Given the description of an element on the screen output the (x, y) to click on. 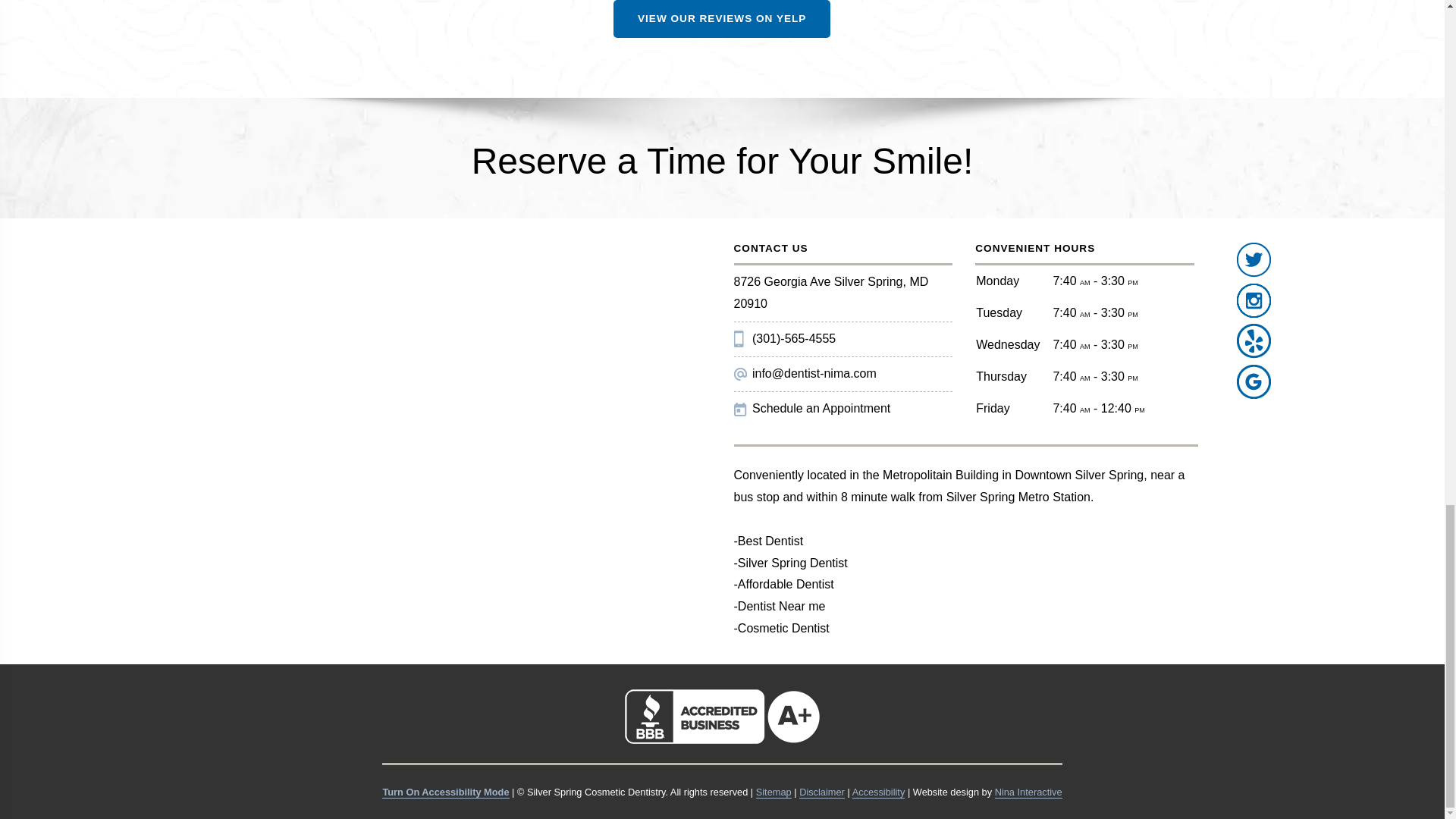
Follow us on Twitter (1254, 259)
Follow us on Instagram (1254, 300)
Find us on Yelp (1254, 340)
Find us on Google Maps (1254, 381)
